Given the description of an element on the screen output the (x, y) to click on. 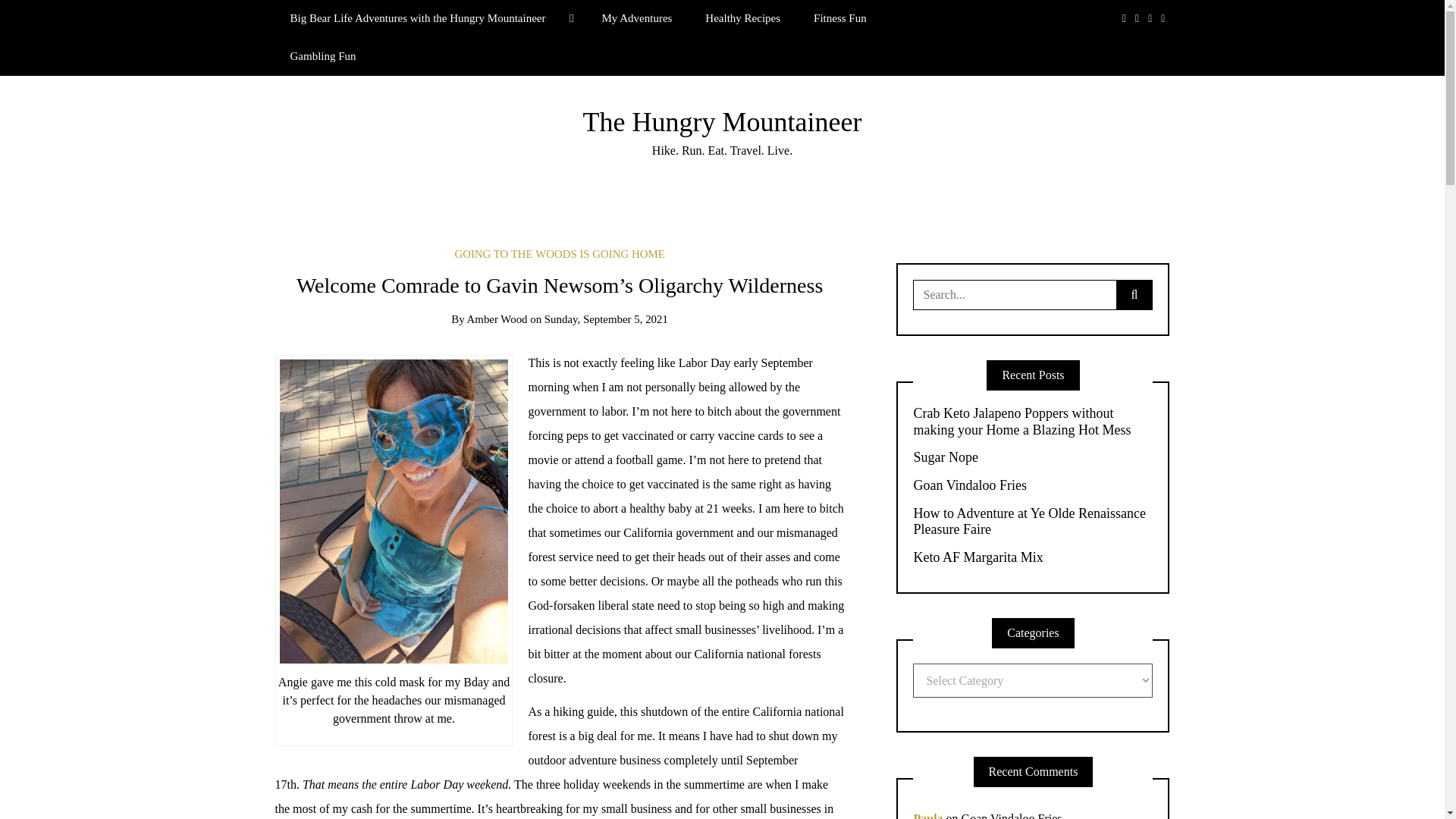
Big Bear Life Adventures with the Hungry Mountaineer (429, 18)
Posts by Amber Wood (497, 318)
